Given the description of an element on the screen output the (x, y) to click on. 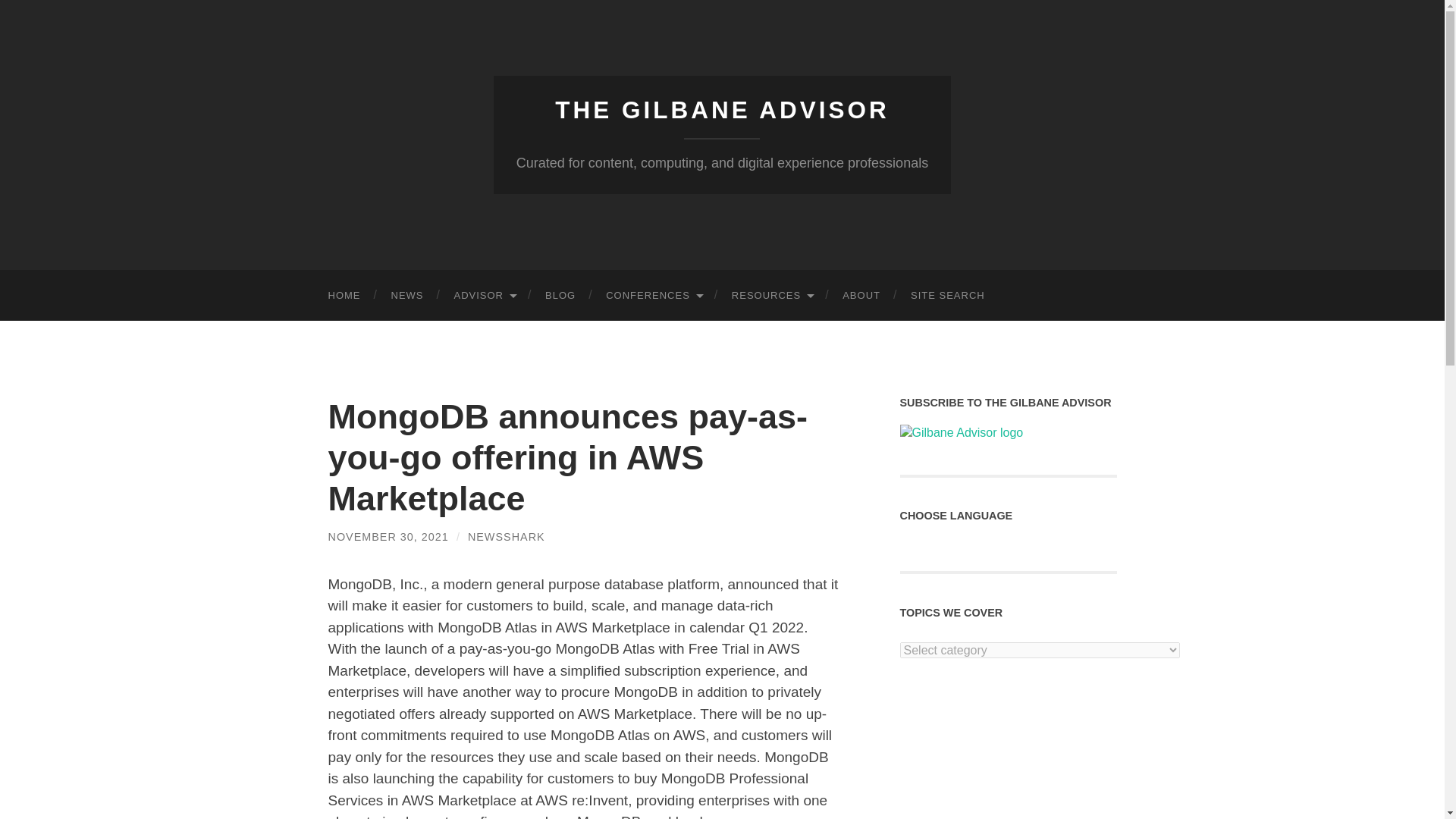
ADVISOR (483, 295)
HOME (344, 295)
THE GILBANE ADVISOR (721, 109)
ABOUT (861, 295)
BLOG (560, 295)
CONFERENCES (653, 295)
Posts by NewsShark (505, 536)
RESOURCES (771, 295)
SITE SEARCH (947, 295)
NEWS (407, 295)
